Given the description of an element on the screen output the (x, y) to click on. 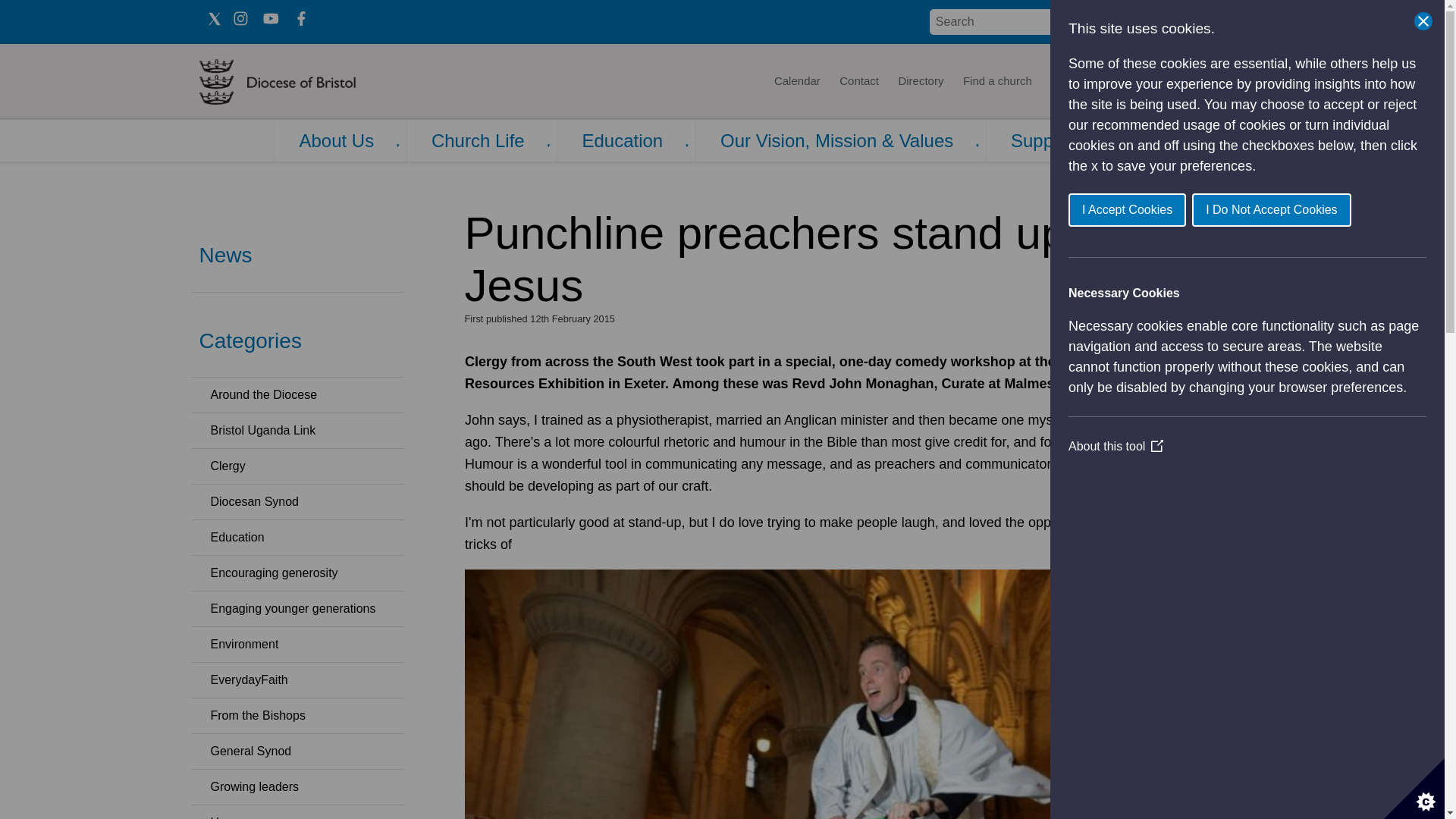
Contact (858, 81)
Vacancies (1124, 81)
I Do Not Accept Cookies (1334, 209)
Find a church (997, 81)
News (1064, 81)
